Given the description of an element on the screen output the (x, y) to click on. 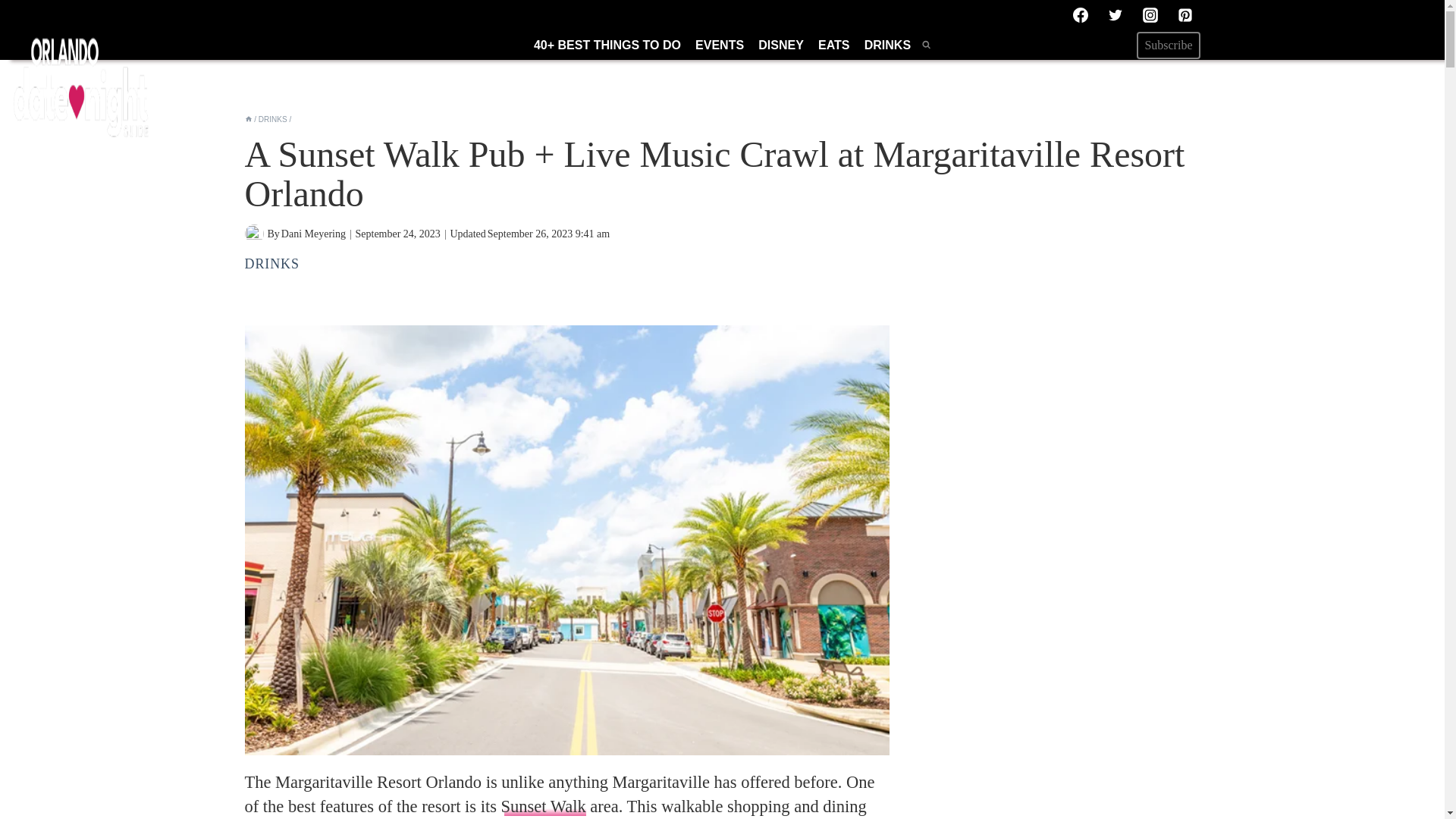
DISNEY (780, 44)
Dani Meyering (313, 233)
EATS (833, 44)
Subscribe (1168, 44)
Home (247, 119)
EVENTS (719, 44)
DRINKS (887, 44)
Sunset Walk (543, 805)
DRINKS (271, 263)
DRINKS (272, 119)
